Given the description of an element on the screen output the (x, y) to click on. 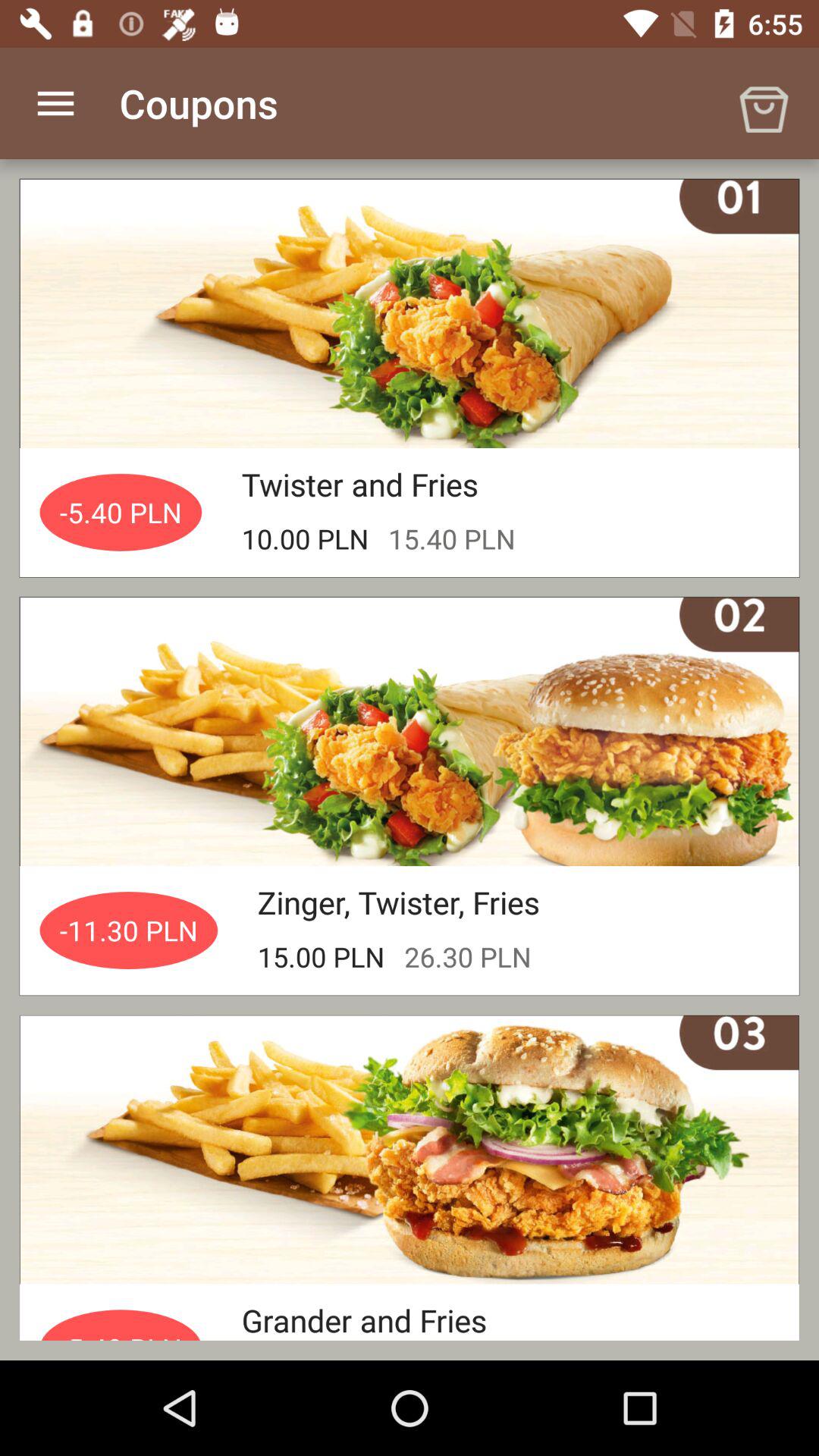
launch icon at the top right corner (763, 103)
